Given the description of an element on the screen output the (x, y) to click on. 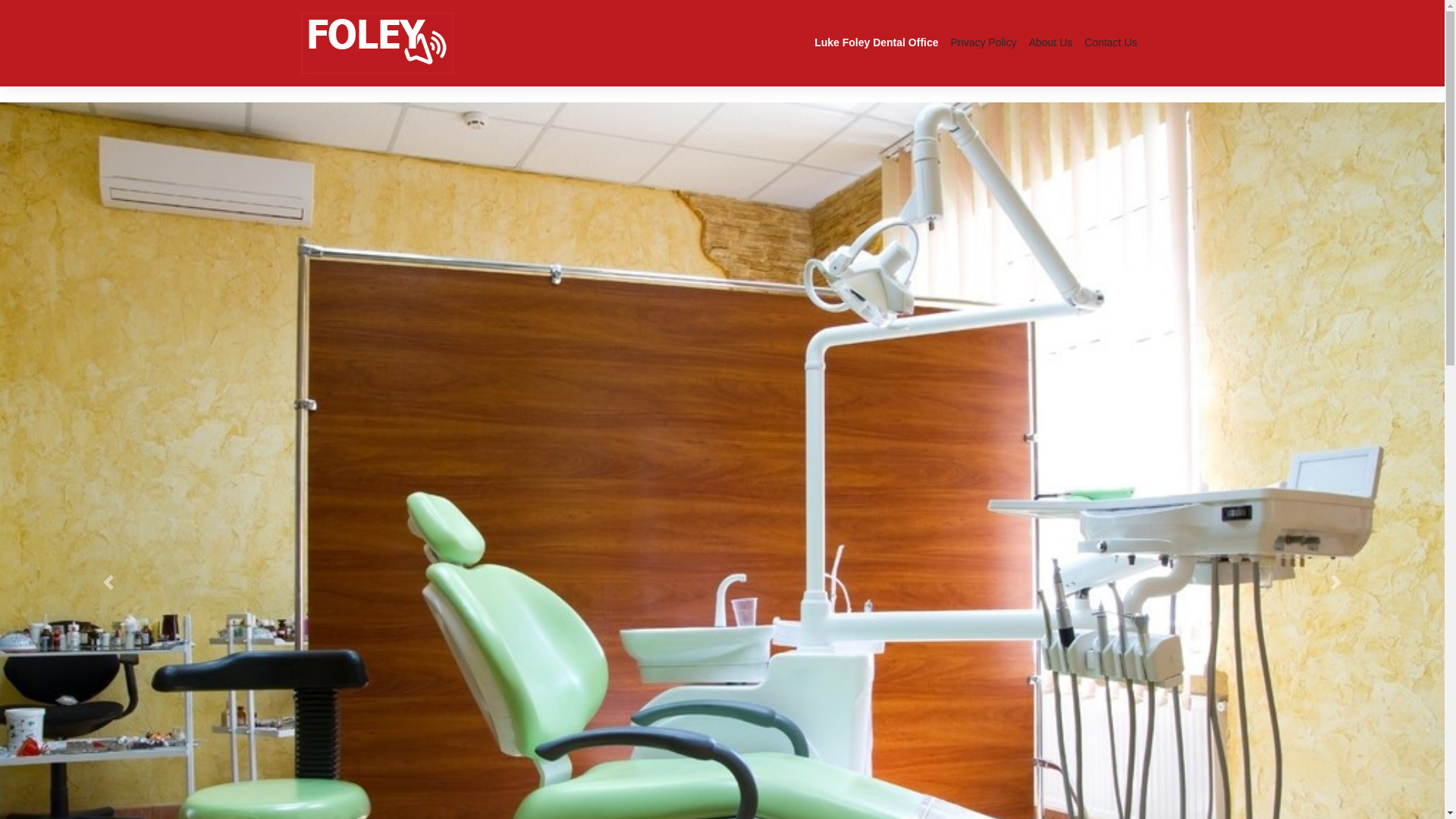
Contact Us Element type: text (1110, 42)
Luke Foley Dental Office Element type: text (876, 42)
About Us Element type: text (1050, 42)
Privacy Policy Element type: text (983, 42)
